Given the description of an element on the screen output the (x, y) to click on. 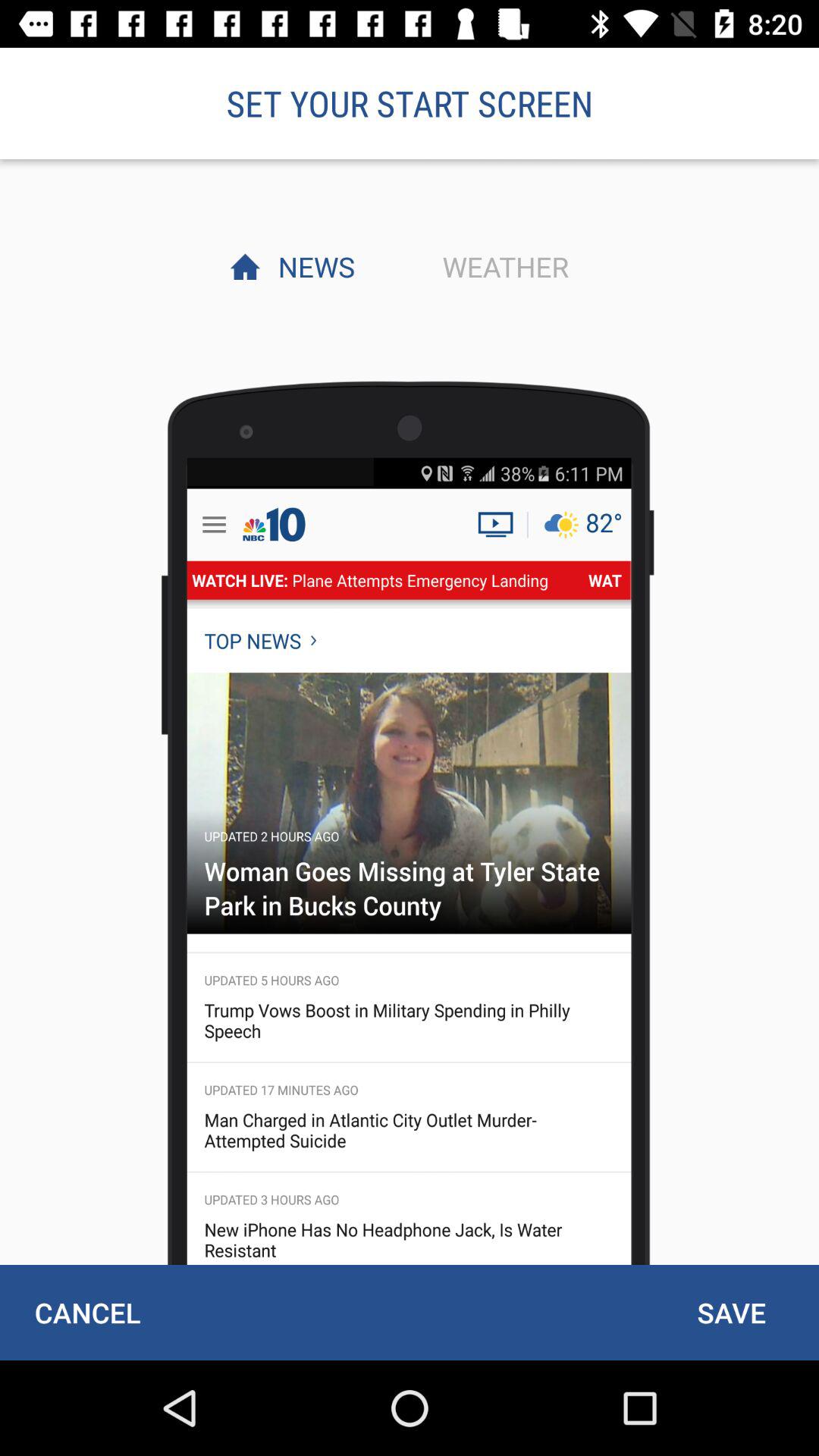
open set your start item (409, 103)
